Given the description of an element on the screen output the (x, y) to click on. 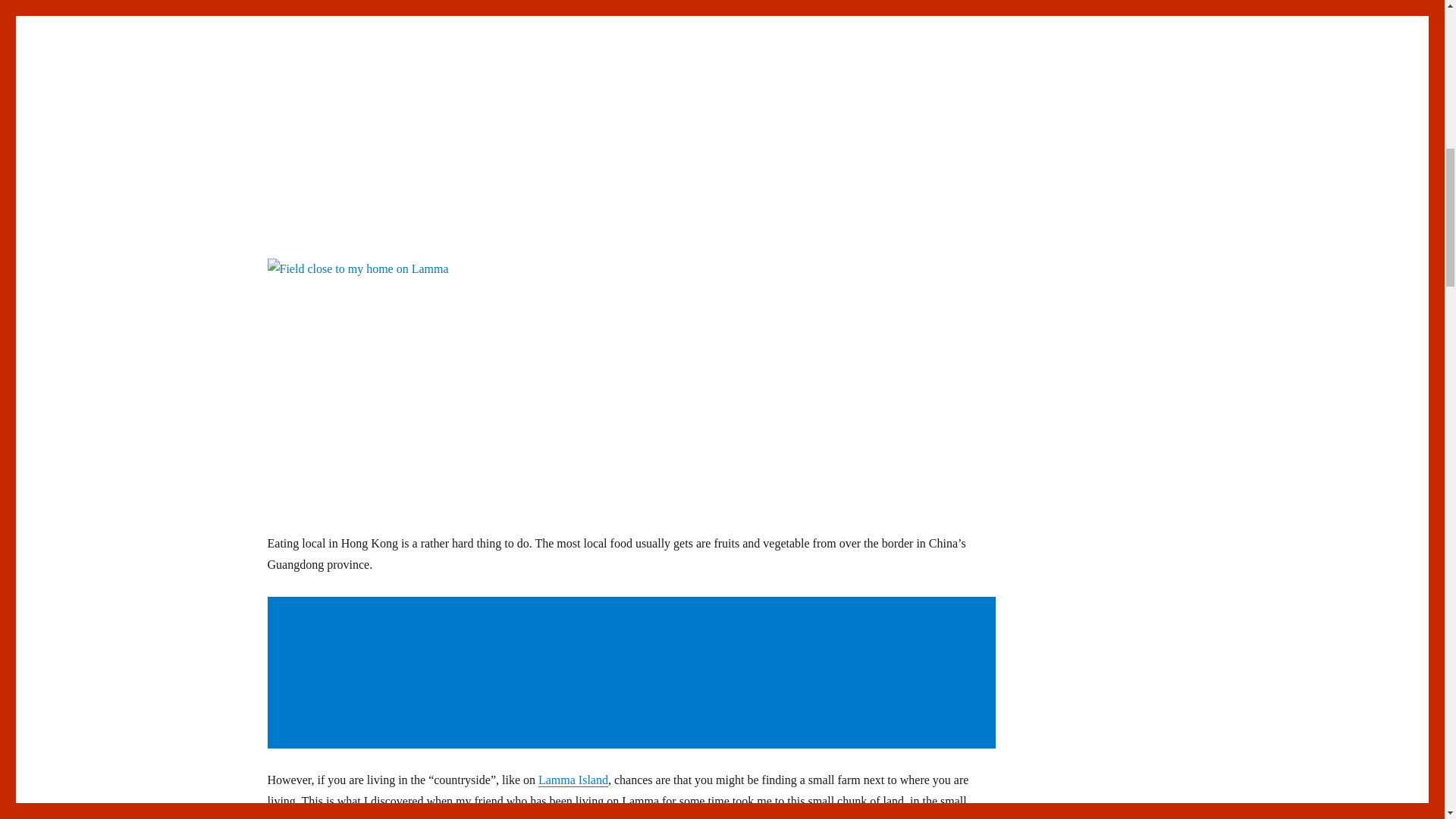
Lamma Island (573, 779)
